Given the description of an element on the screen output the (x, y) to click on. 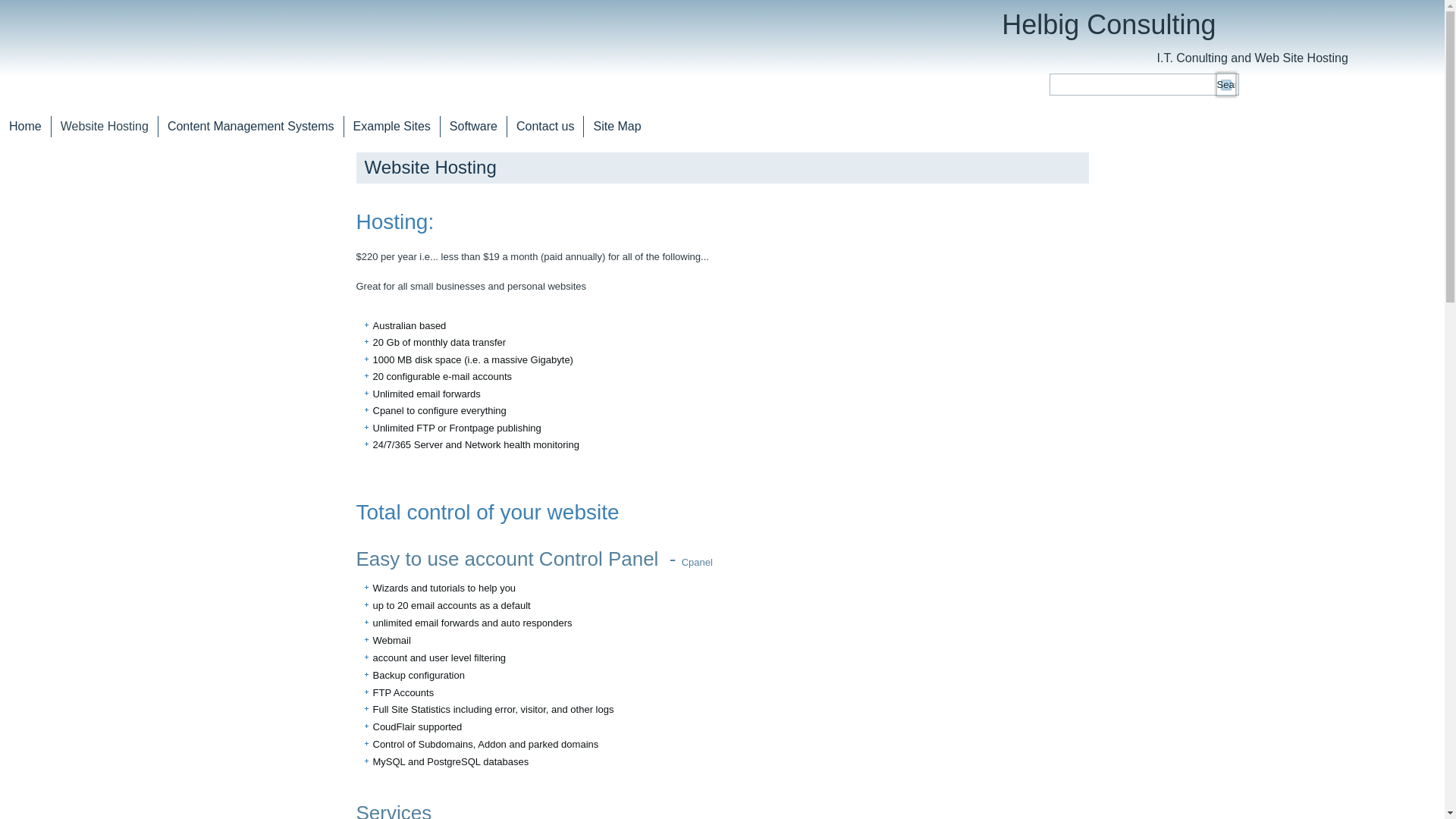
Contact us Element type: text (545, 126)
Software Element type: text (473, 126)
Home Element type: text (25, 126)
home Element type: hover (100, 38)
Example Sites Element type: text (391, 126)
Website Hosting Element type: text (104, 126)
Content Management Systems Element type: text (250, 126)
Search Element type: text (1226, 84)
Helbig Consulting Element type: text (1108, 24)
Site Map Element type: text (616, 126)
